Given the description of an element on the screen output the (x, y) to click on. 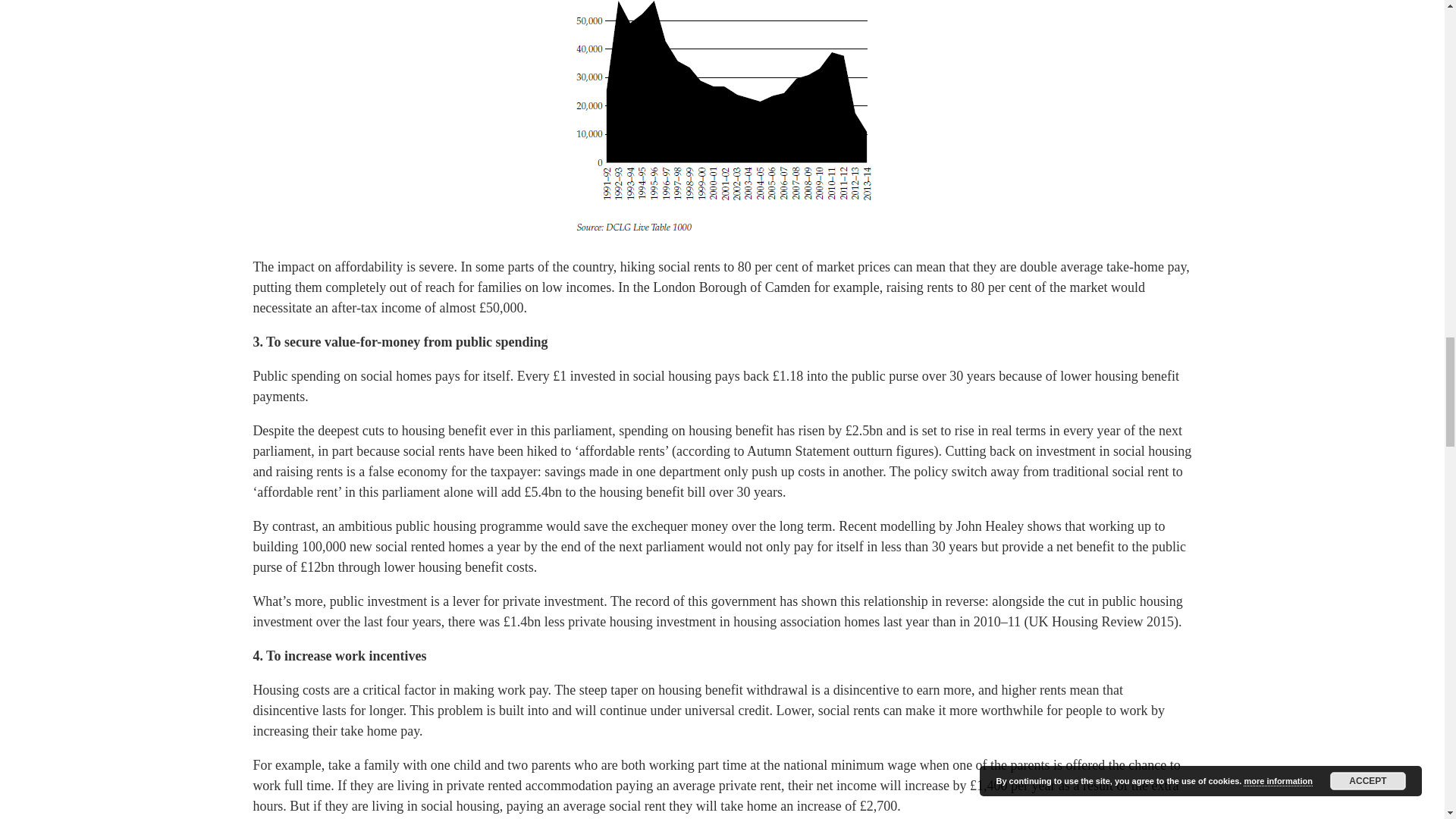
Healey graph 2 (722, 121)
